Given the description of an element on the screen output the (x, y) to click on. 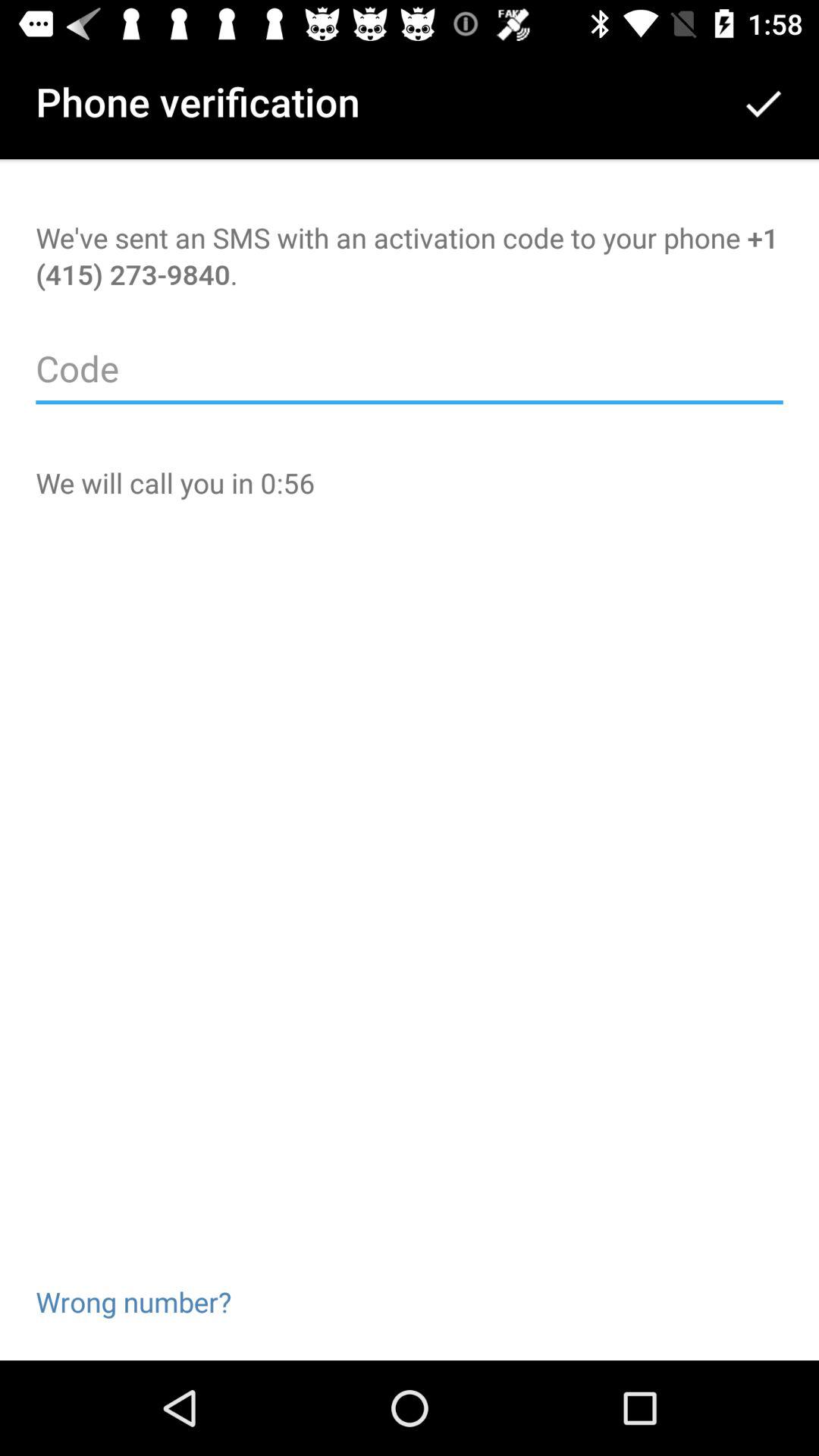
press the item at the bottom left corner (133, 1277)
